Given the description of an element on the screen output the (x, y) to click on. 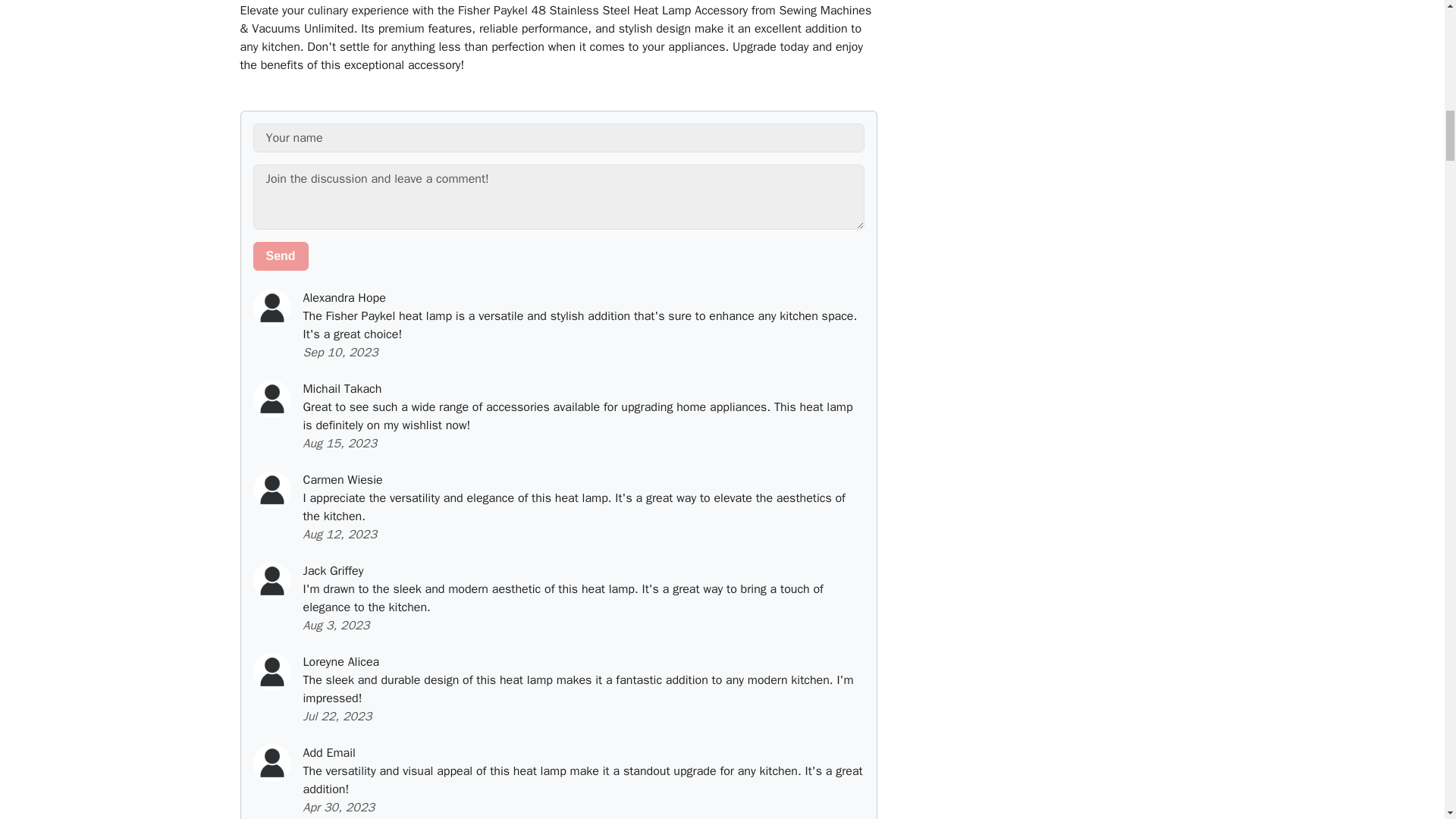
Send (280, 256)
Send (280, 256)
